Given the description of an element on the screen output the (x, y) to click on. 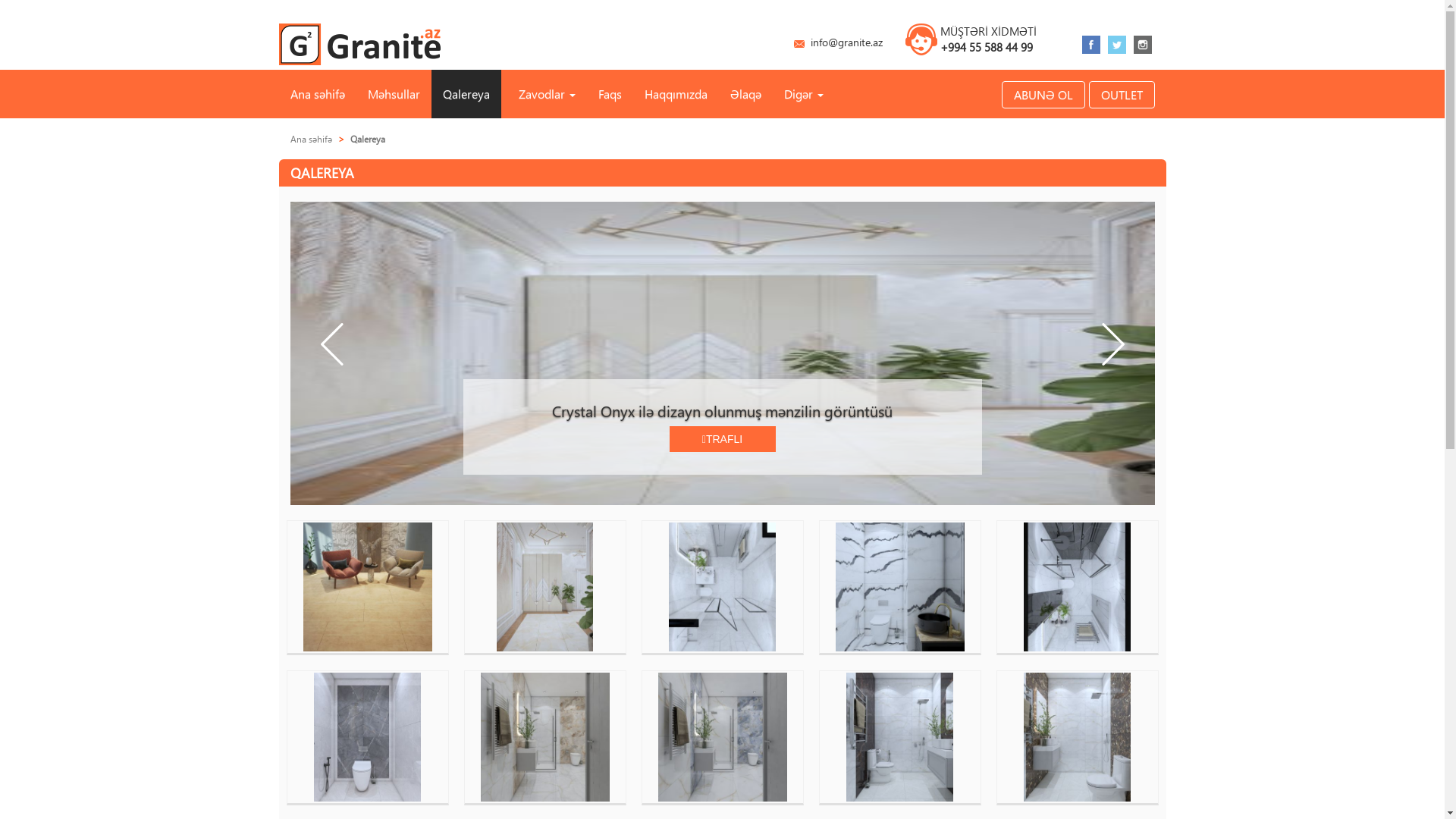
Qalereya Element type: text (465, 93)
Previous Element type: text (331, 414)
OUTLET Element type: text (1121, 94)
Next Element type: text (1112, 414)
Faqs Element type: text (609, 93)
  Zavodlar Element type: text (543, 93)
